Given the description of an element on the screen output the (x, y) to click on. 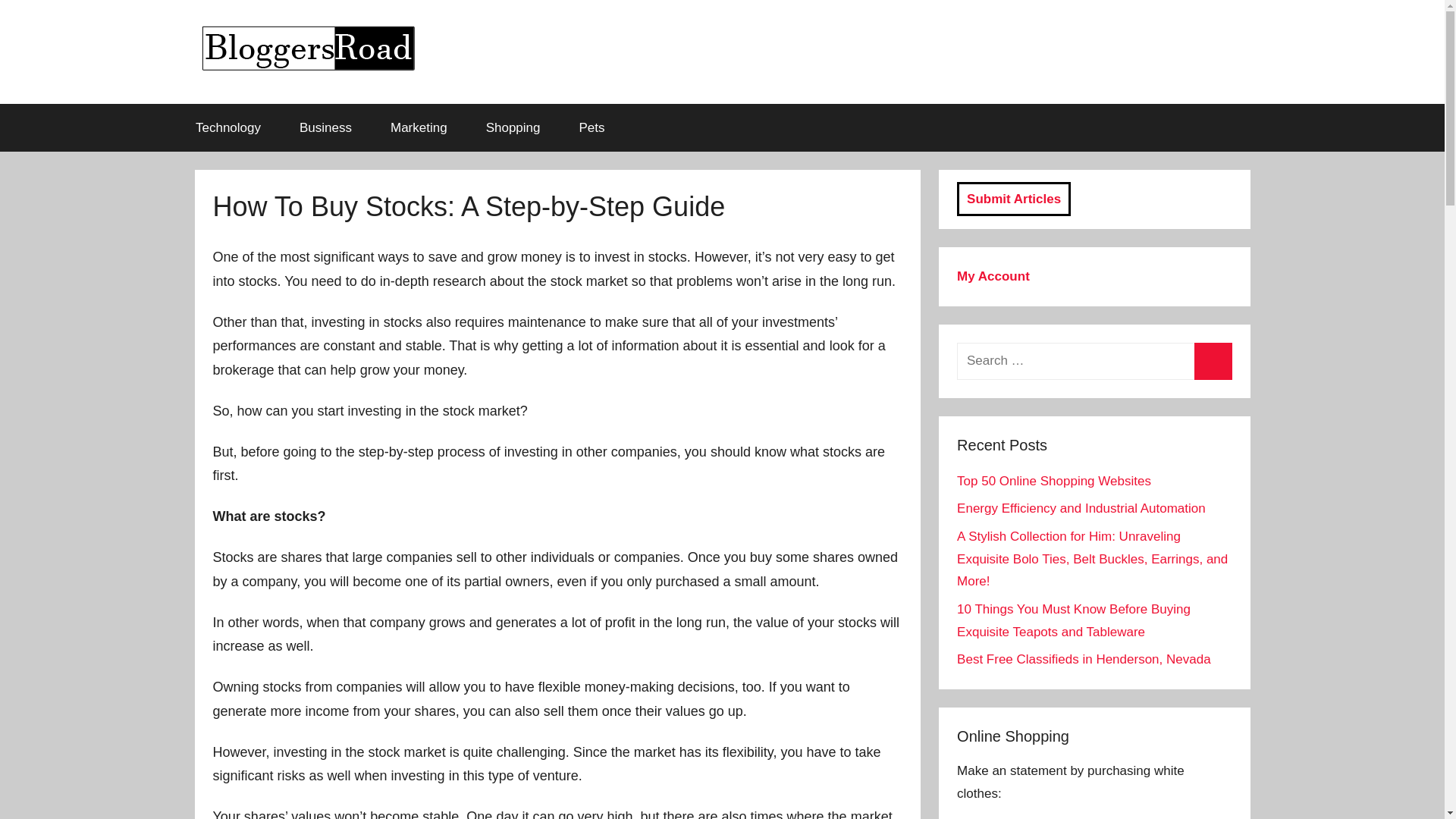
Submit Articles (1013, 198)
Top 50 Online Shopping Websites (1053, 481)
Pets (591, 127)
Business (326, 127)
Best Free Classifieds in Henderson, Nevada (1083, 658)
Search for: (1093, 361)
Technology (227, 127)
Shopping (512, 127)
Marketing (419, 127)
My Account (992, 276)
Submit Articles (1013, 198)
Energy Efficiency and Industrial Automation (1080, 508)
